Given the description of an element on the screen output the (x, y) to click on. 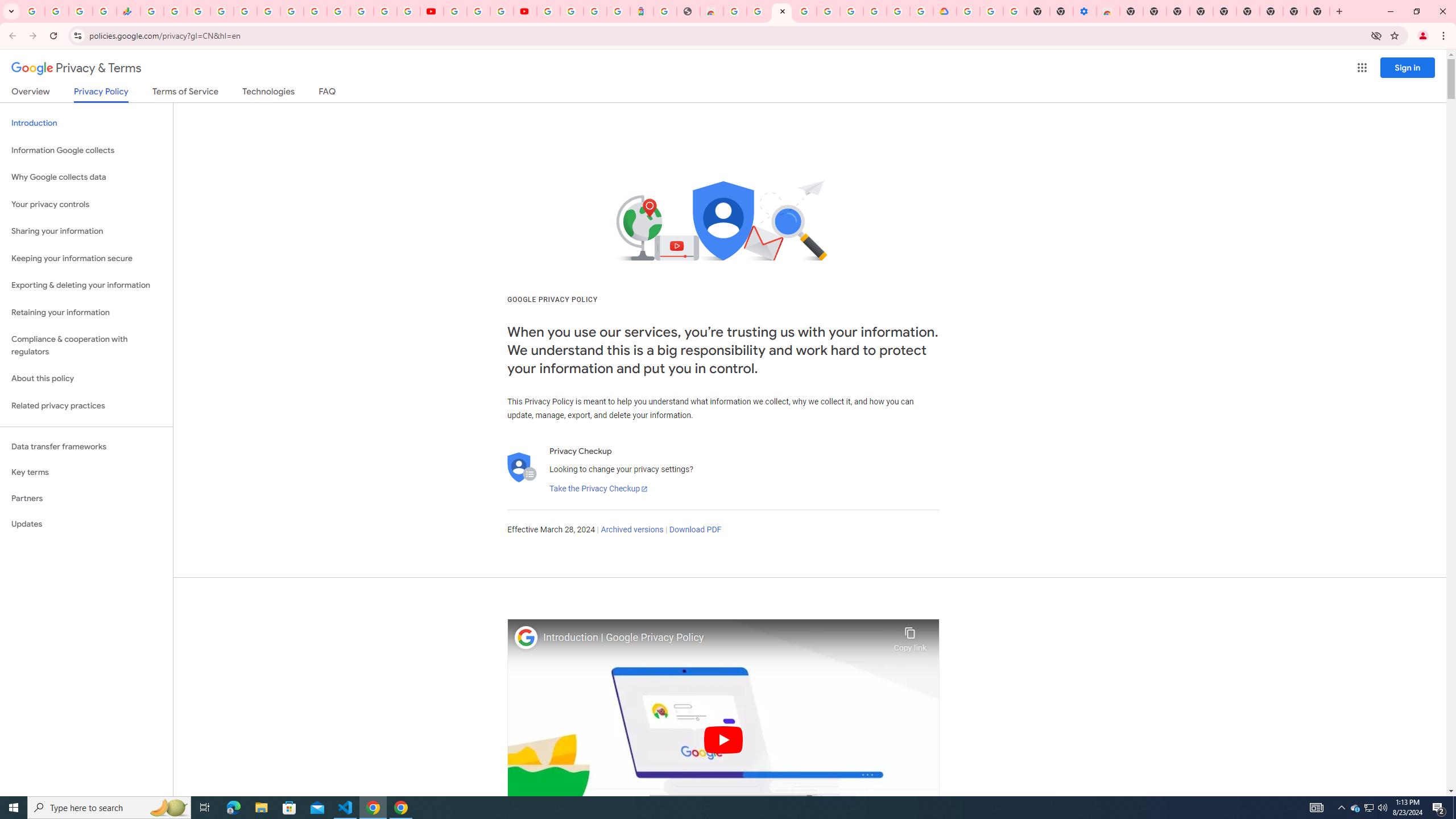
Sign in - Google Accounts (221, 11)
Google Account Help (992, 11)
Information Google collects (86, 150)
Copy link (909, 636)
Atour Hotel - Google hotels (641, 11)
Google Account Help (478, 11)
Sign in - Google Accounts (571, 11)
